Given the description of an element on the screen output the (x, y) to click on. 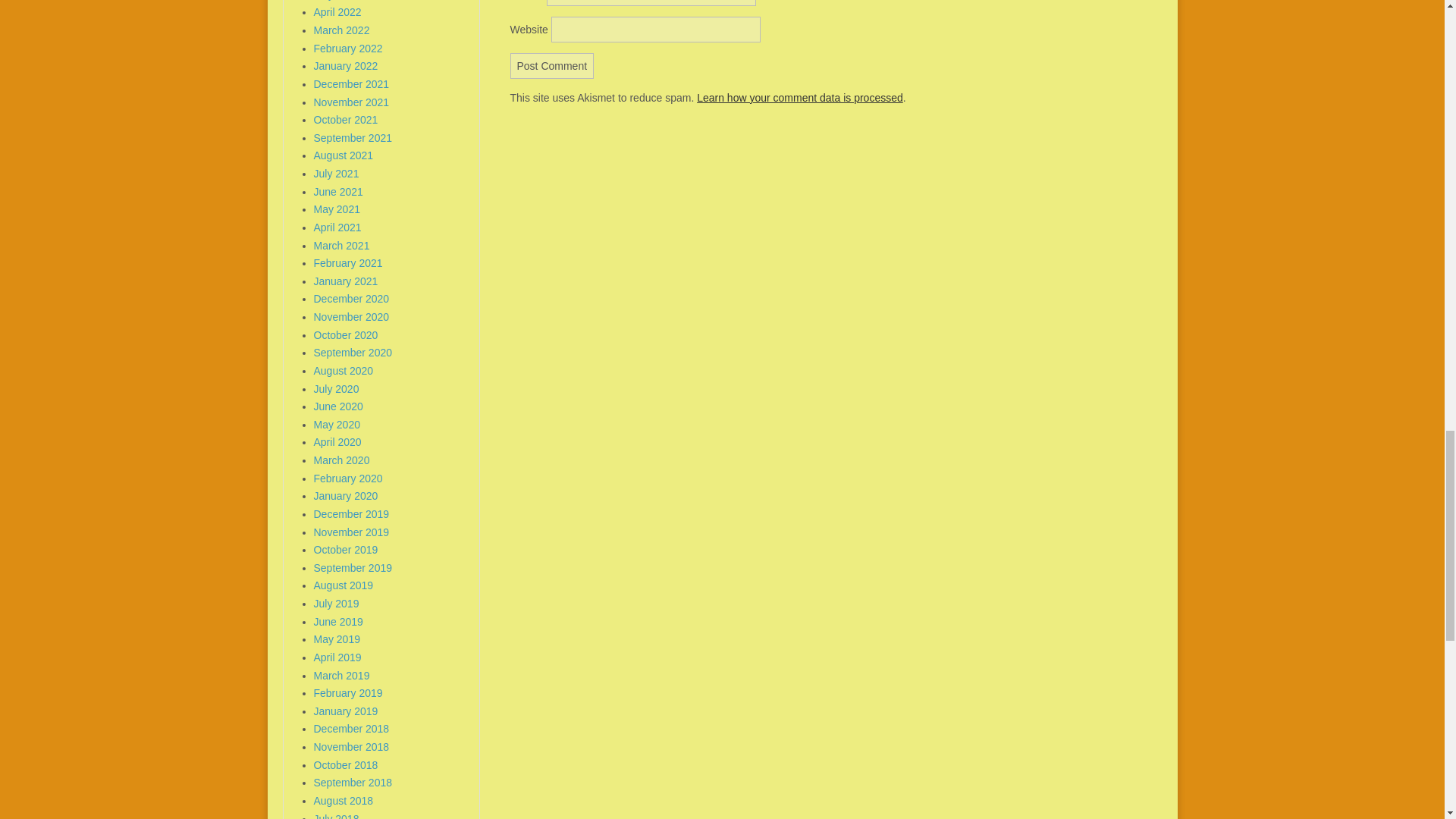
Post Comment (551, 65)
Post Comment (551, 65)
Learn how your comment data is processed (799, 97)
